Given the description of an element on the screen output the (x, y) to click on. 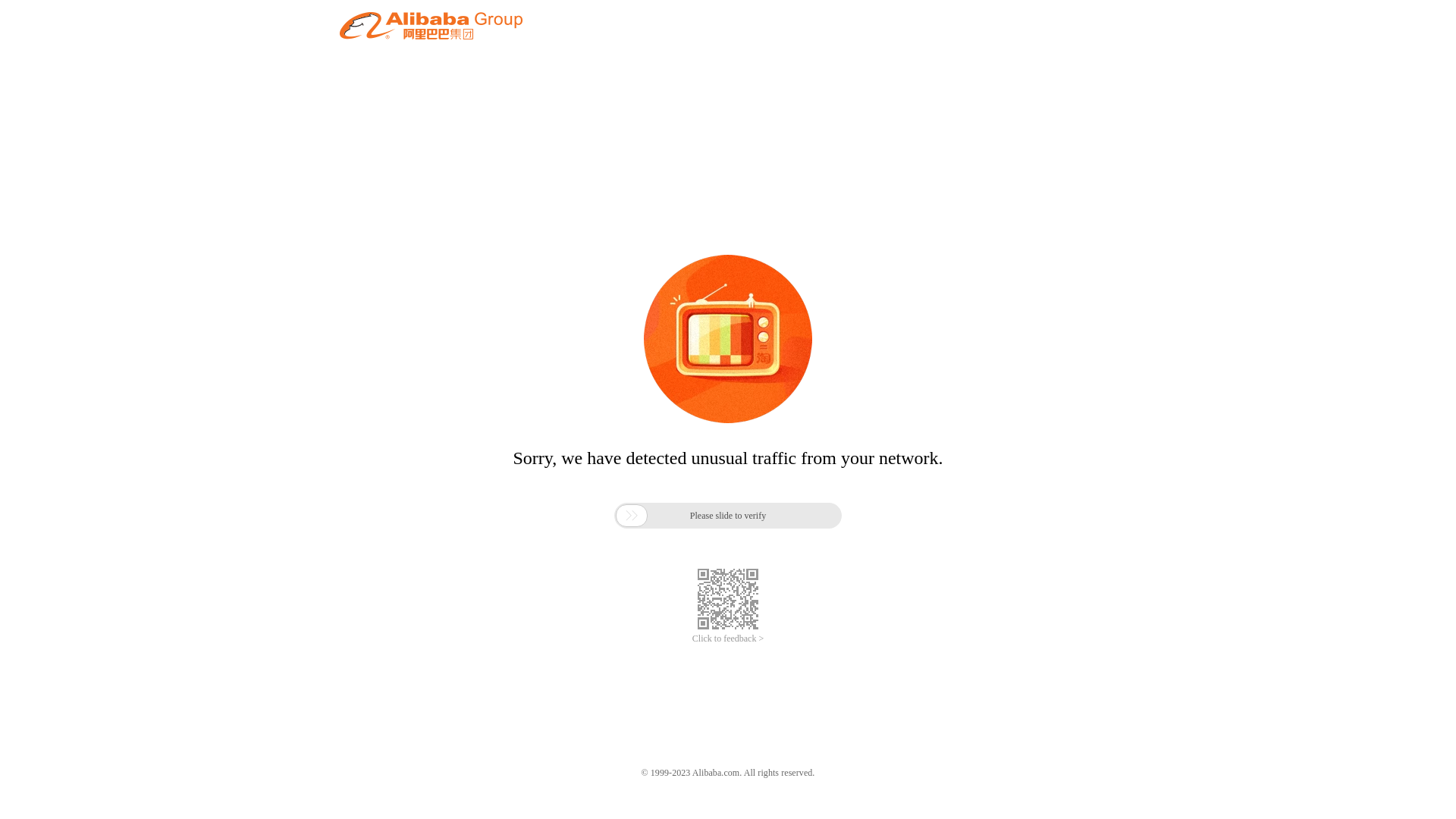
Click to feedback > Element type: text (727, 638)
